Given the description of an element on the screen output the (x, y) to click on. 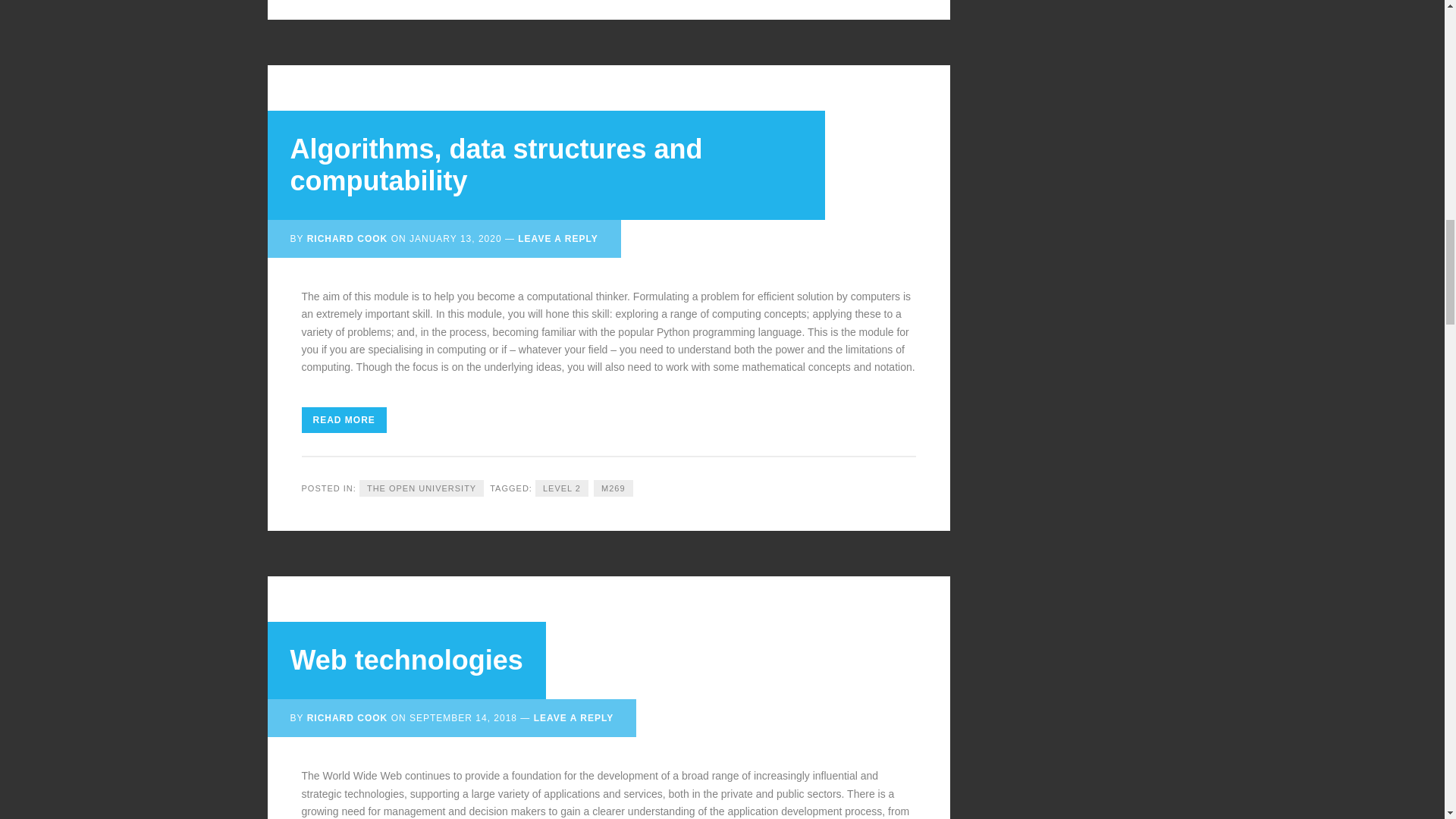
RICHARD COOK (347, 717)
Web technologies (405, 659)
LEAVE A REPLY (557, 238)
LEAVE A REPLY (573, 717)
Algorithms, data structures and computability (495, 164)
LEVEL 2 (561, 488)
M269 (613, 488)
RICHARD COOK (347, 238)
READ MORE (344, 420)
THE OPEN UNIVERSITY (421, 488)
